Given the description of an element on the screen output the (x, y) to click on. 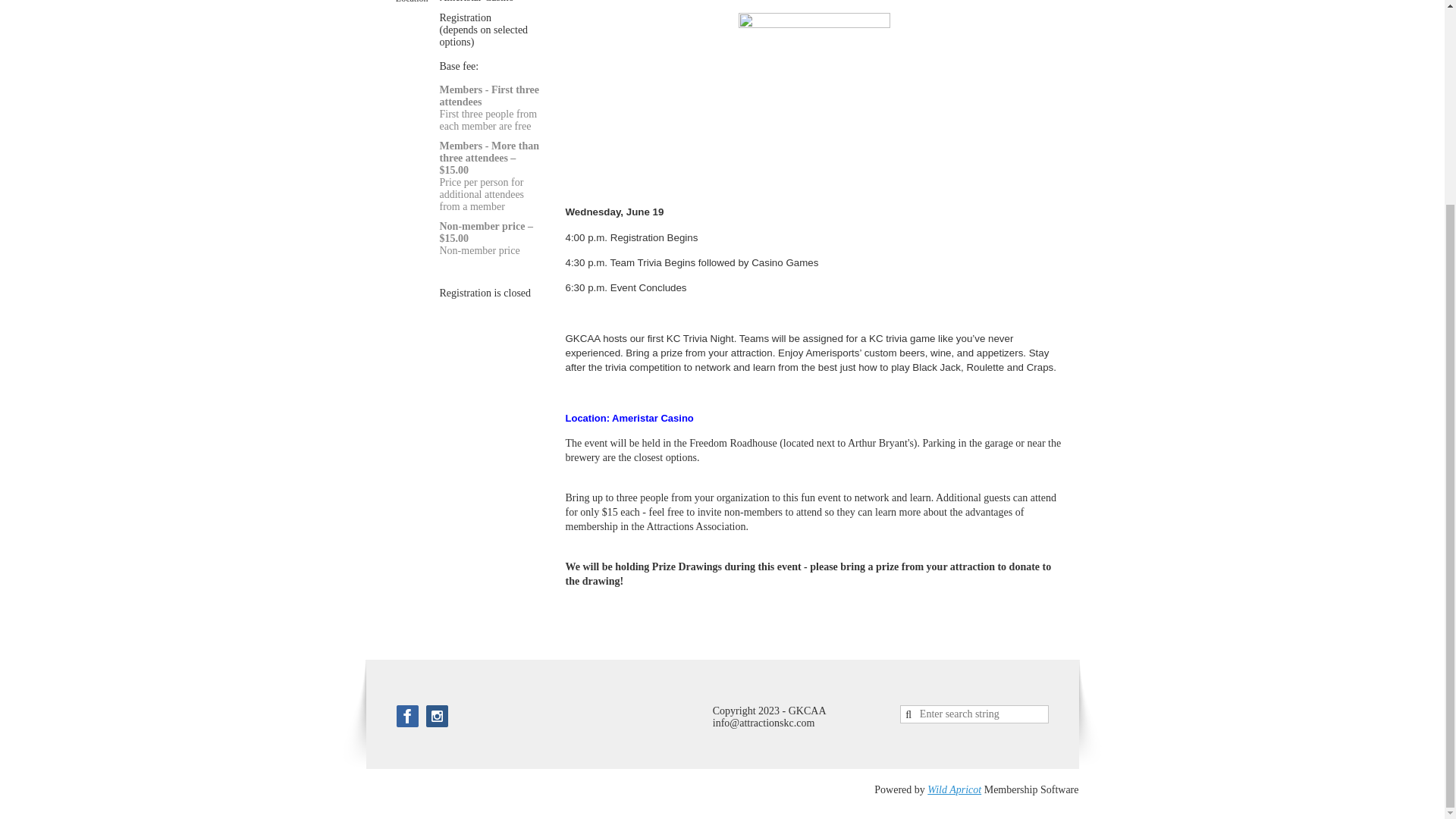
Wild Apricot (954, 789)
